Given the description of an element on the screen output the (x, y) to click on. 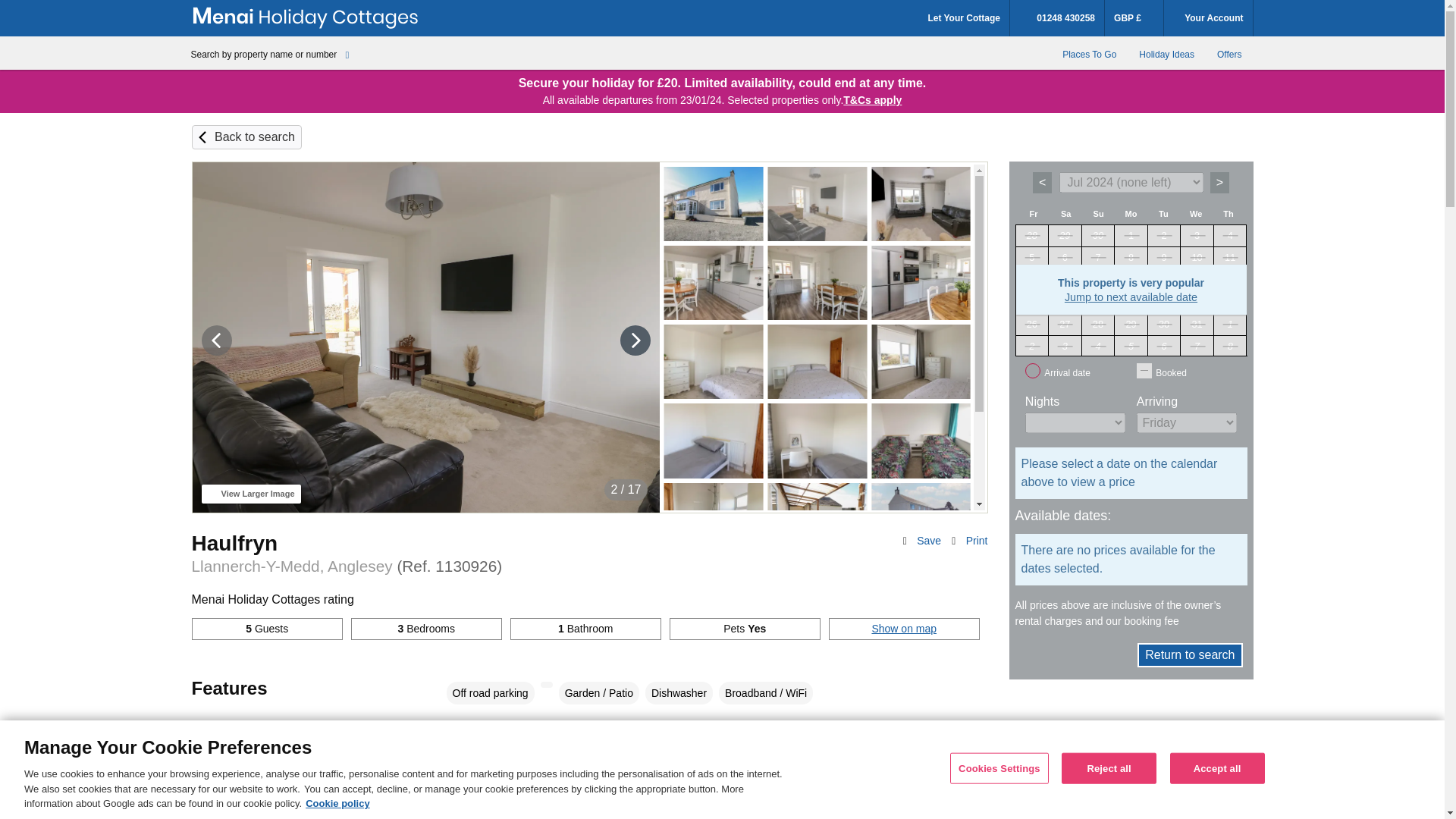
Return to search (254, 136)
Print (977, 540)
Places To Go (1089, 54)
Let Your Cottage (963, 18)
Return to search (1189, 654)
01248 430258 (1056, 18)
Save (928, 540)
Your Account (1207, 18)
